Given the description of an element on the screen output the (x, y) to click on. 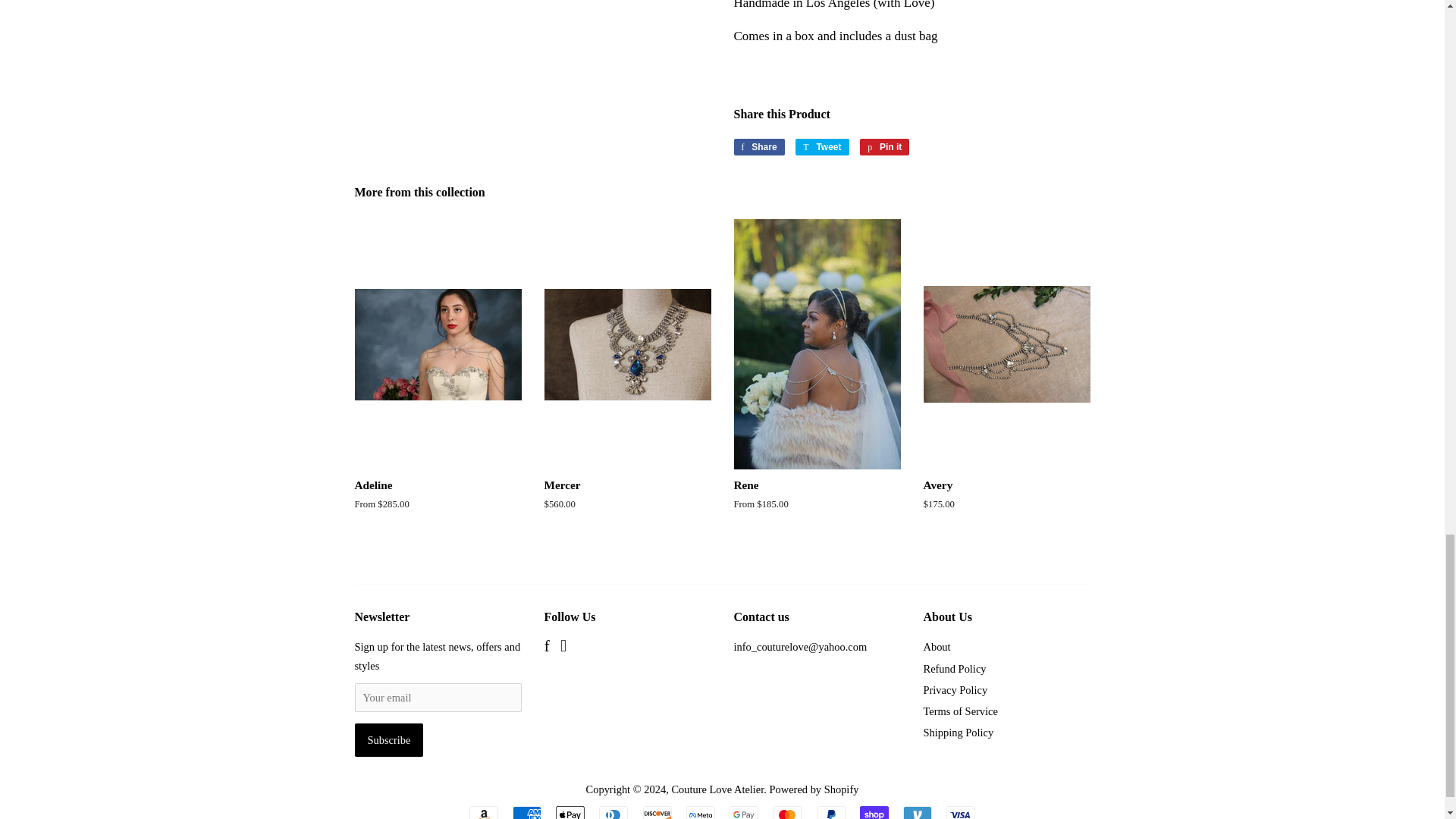
Visa (960, 812)
Tweet on Twitter (821, 146)
Venmo (821, 146)
Amazon (916, 812)
Shop Pay (482, 812)
PayPal (874, 812)
Meta Pay (830, 812)
Apple Pay (699, 812)
Subscribe (570, 812)
Share on Facebook (389, 739)
Diners Club (758, 146)
Mastercard (612, 812)
Pin on Pinterest (787, 812)
